Given the description of an element on the screen output the (x, y) to click on. 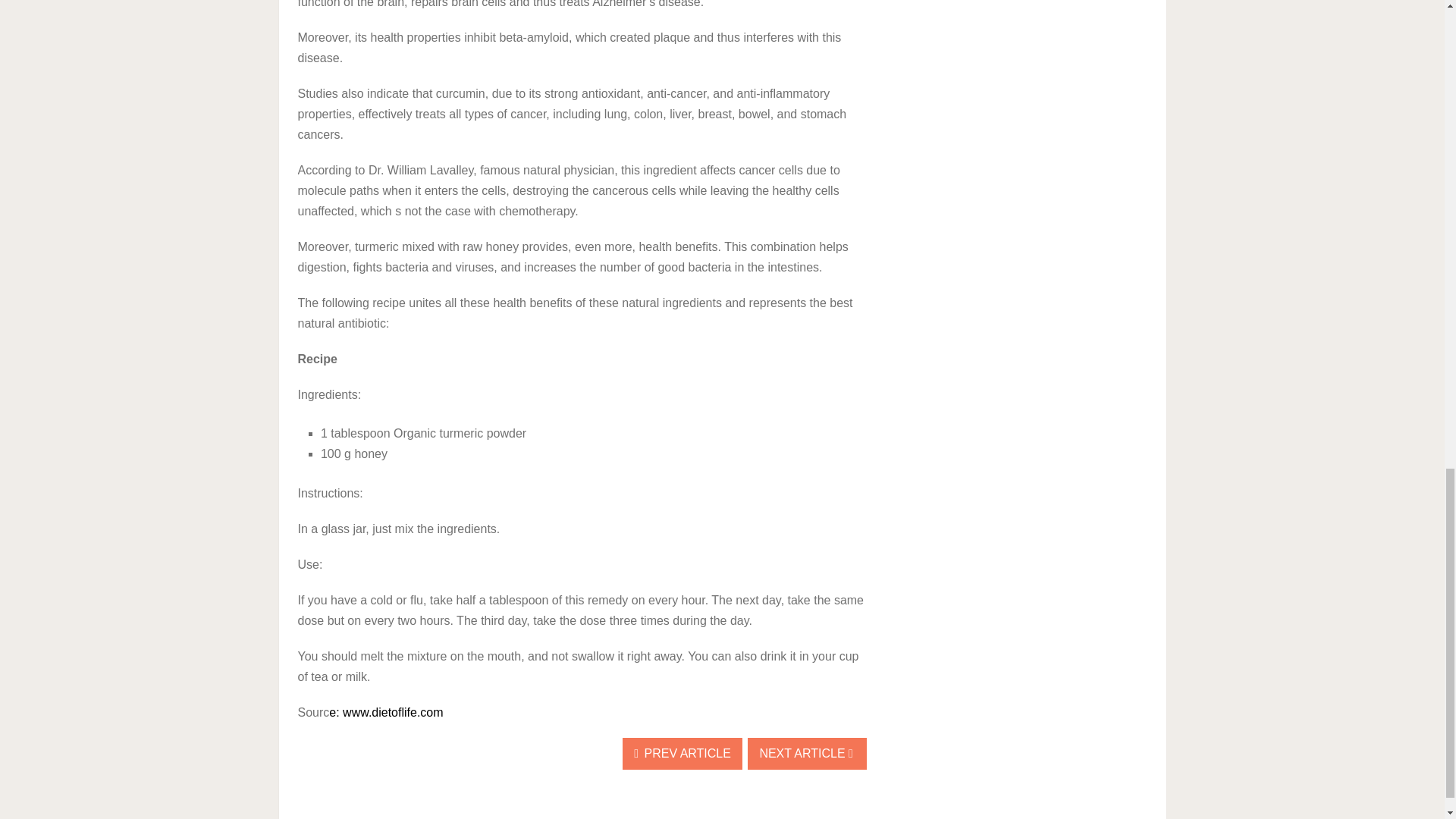
PREV ARTICLE (682, 753)
NEXT ARTICLE (807, 753)
www.dietoflife.com (393, 712)
